Given the description of an element on the screen output the (x, y) to click on. 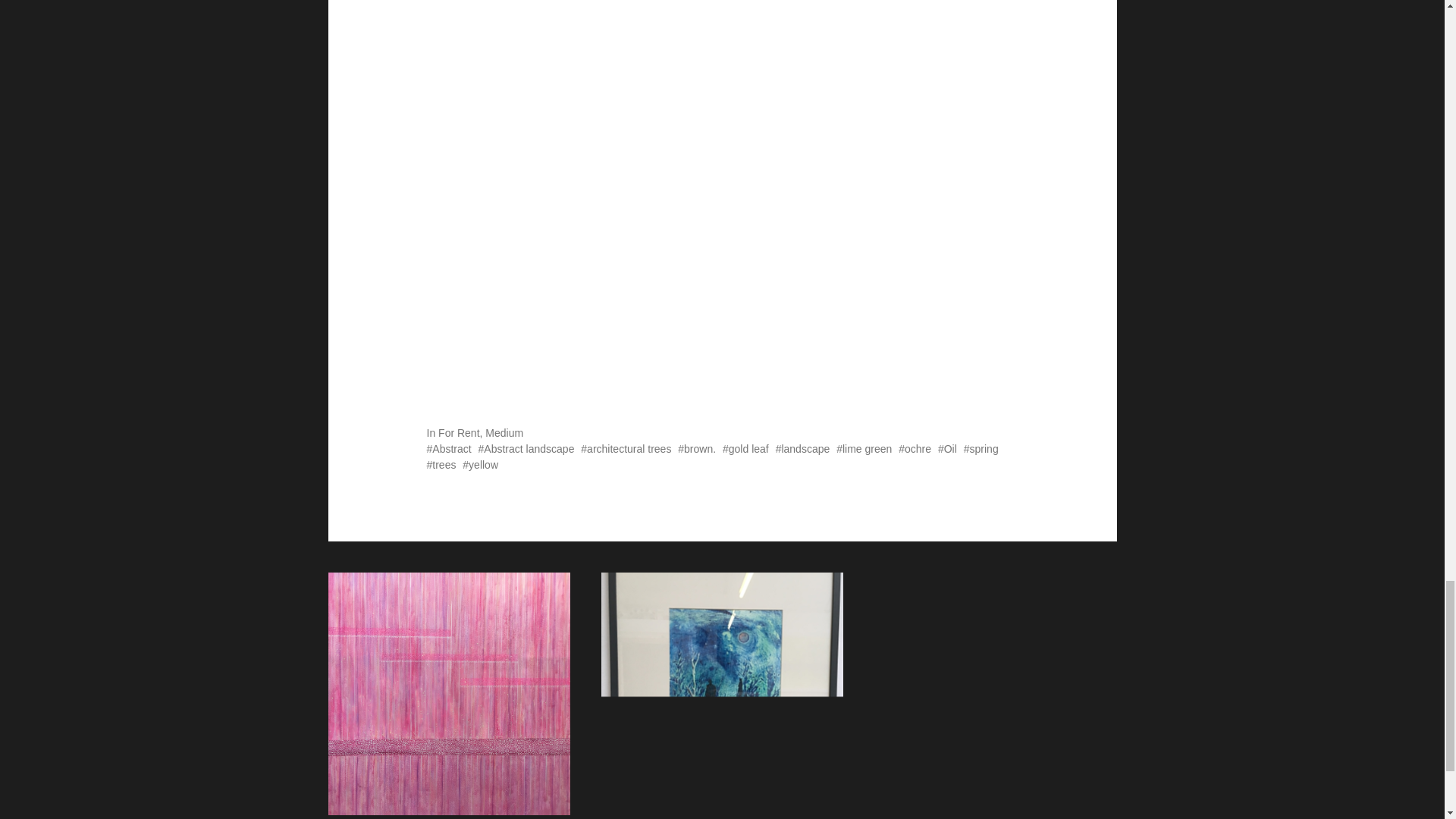
landscape (802, 449)
Abstract (448, 449)
brown. (697, 449)
Abstract landscape (527, 449)
trees (440, 464)
ochre (914, 449)
architectural trees (625, 449)
yellow (480, 464)
gold leaf (745, 449)
spring (980, 449)
